Given the description of an element on the screen output the (x, y) to click on. 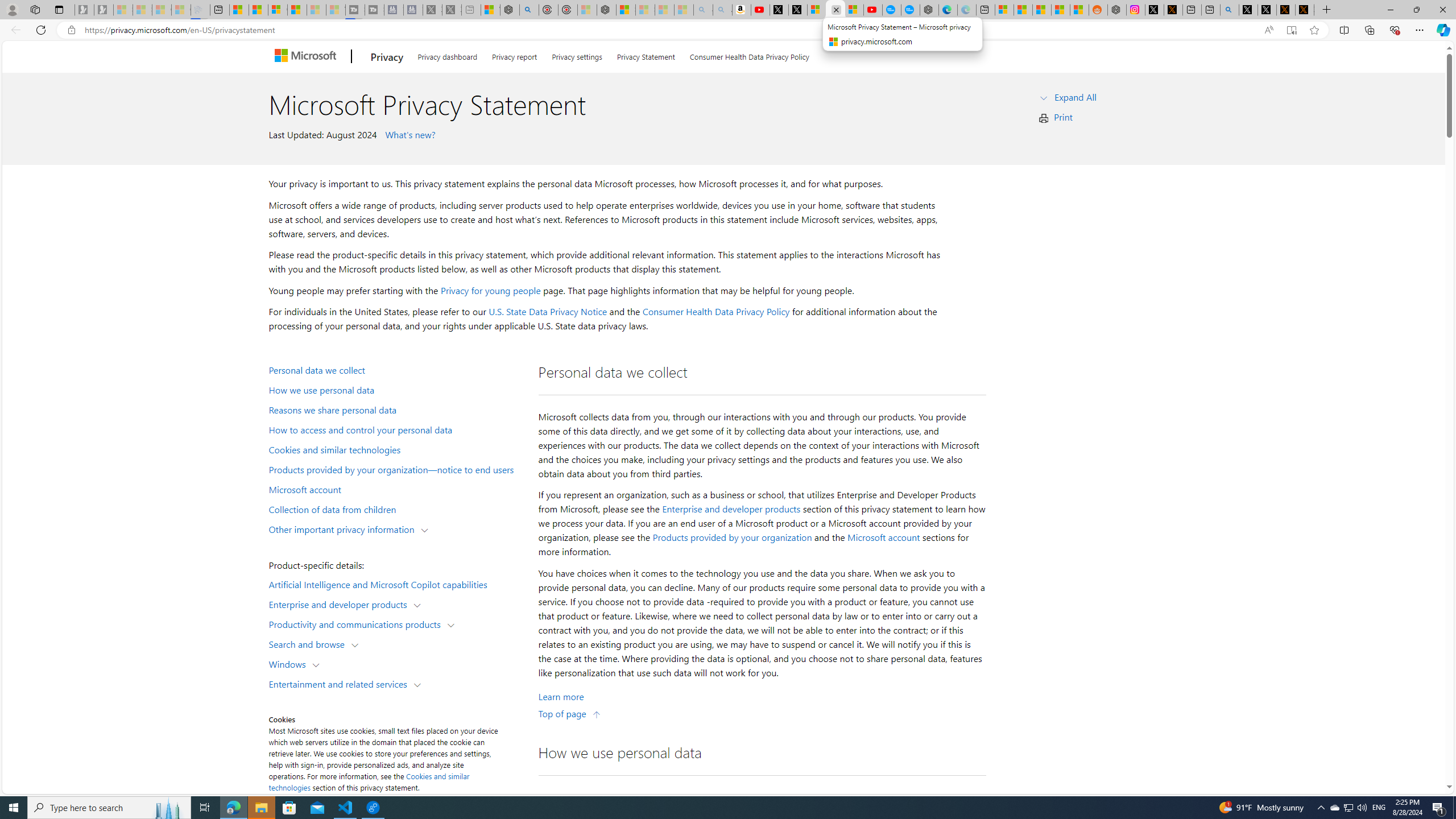
Other important privacy information (343, 528)
X Privacy Policy (1304, 9)
Products provided by your organization (732, 537)
Privacy report (514, 54)
GitHub (@github) / X (1267, 9)
Privacy for young people (489, 290)
Entertainment and related services (340, 683)
Productivity and communications products (356, 623)
Privacy Statement (645, 54)
